Given the description of an element on the screen output the (x, y) to click on. 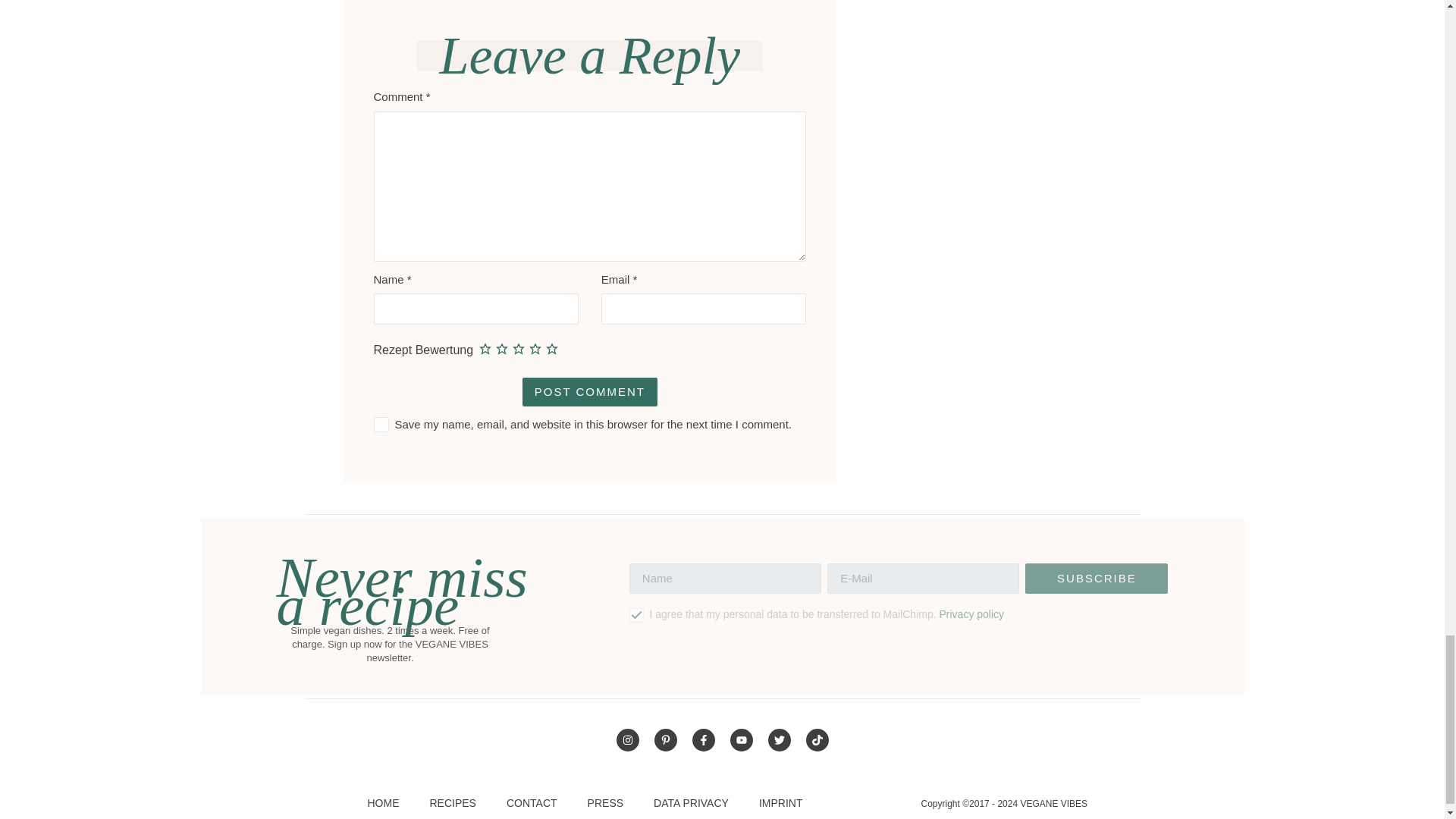
Subscribe (1096, 578)
1 (636, 615)
Post Comment (590, 392)
